Given the description of an element on the screen output the (x, y) to click on. 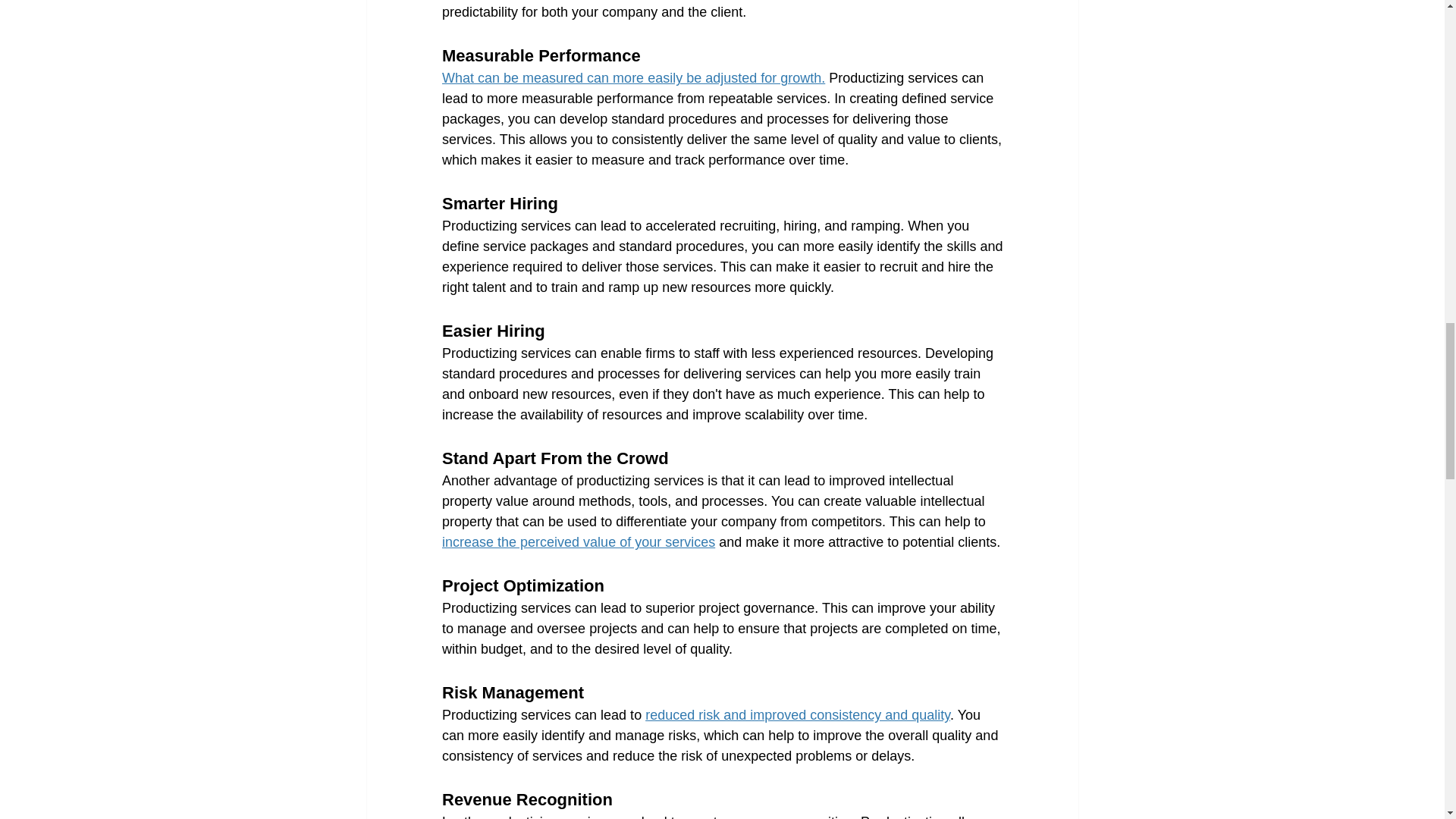
reduced risk and improved consistency and quality (797, 714)
increase the perceived value of your services (577, 541)
What can be measured can more easily be adjusted for growth. (632, 77)
